Given the description of an element on the screen output the (x, y) to click on. 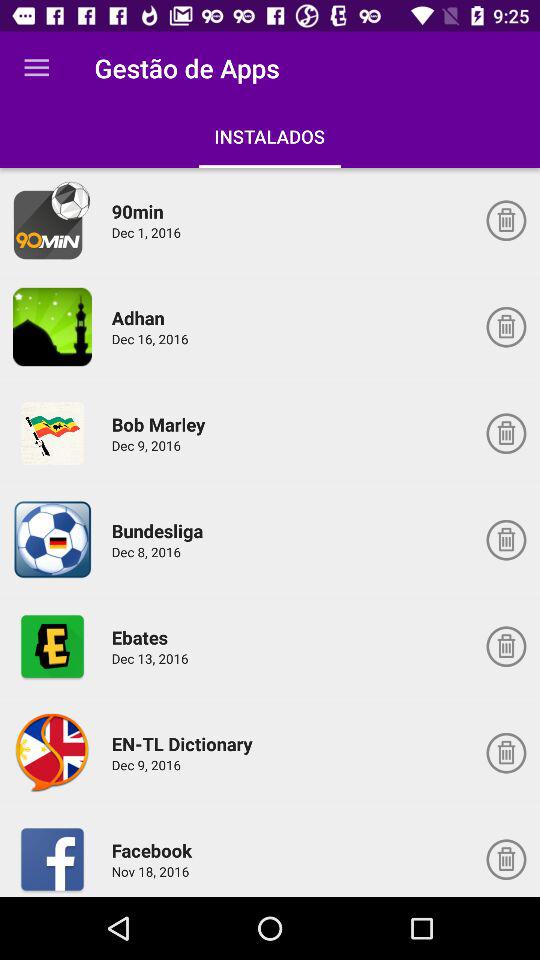
press the item below the facebook (153, 871)
